Given the description of an element on the screen output the (x, y) to click on. 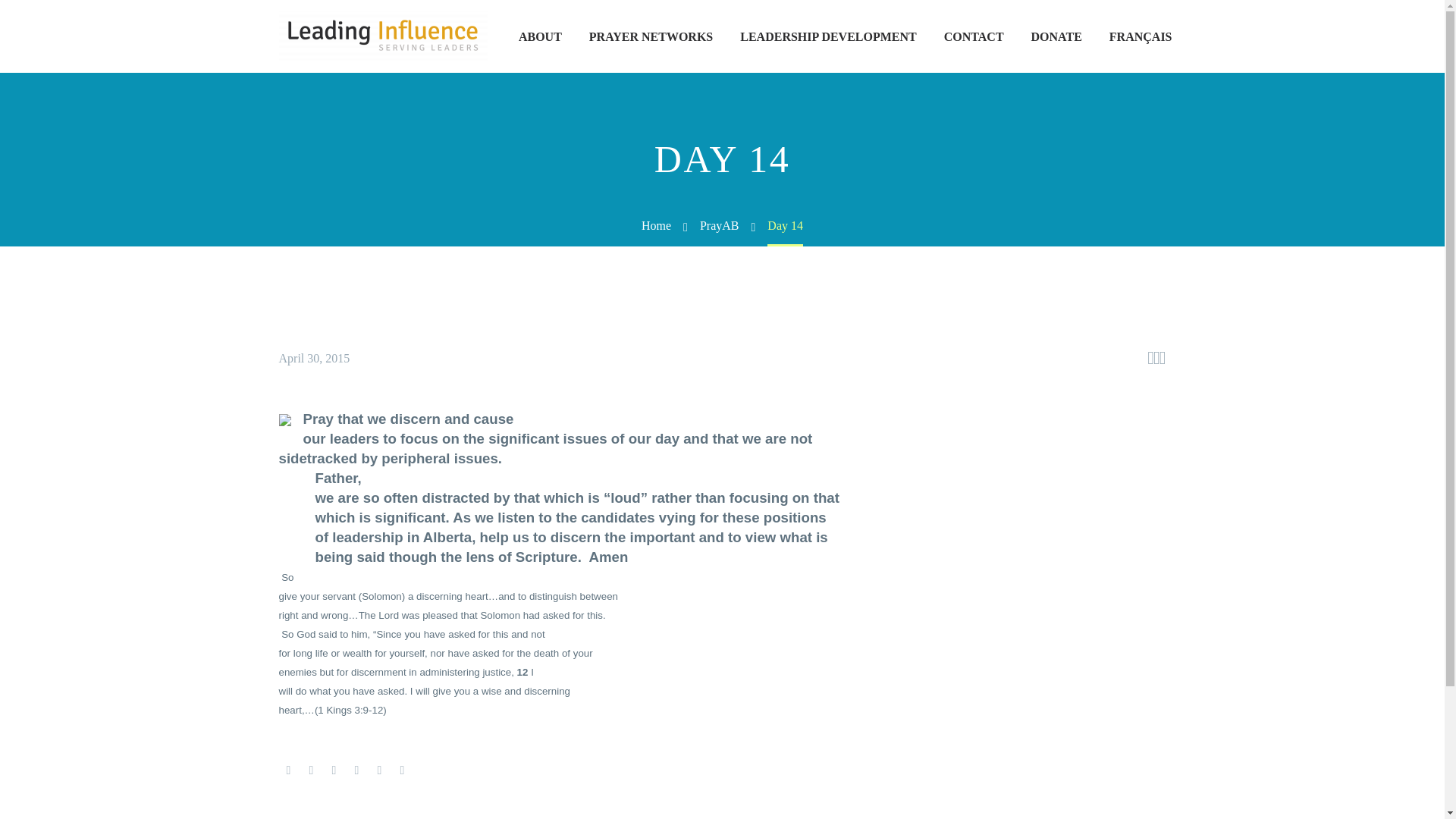
PRAYER NETWORKS (650, 36)
Twitter (310, 770)
ABOUT (539, 36)
LinkedIn (378, 770)
Reddit (401, 770)
Home (656, 225)
CONTACT (973, 36)
Tumblr (356, 770)
Pinterest (333, 770)
DONATE (1056, 36)
